Given the description of an element on the screen output the (x, y) to click on. 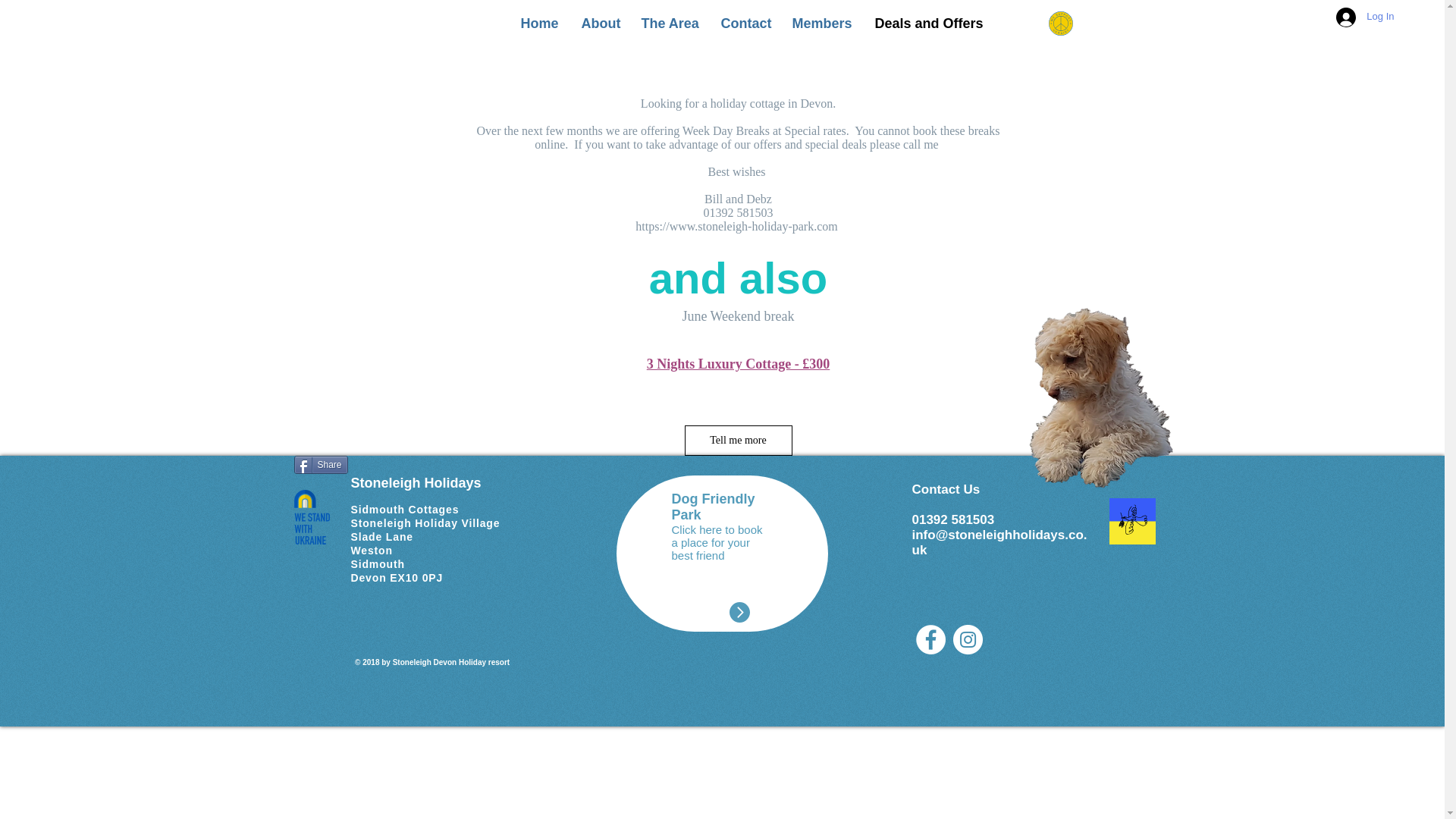
Deals and Offers (926, 23)
Share (320, 464)
The Area (668, 23)
Tell me more (738, 440)
Contact (742, 23)
Members (819, 23)
About (598, 23)
Home (538, 23)
Log In (1364, 17)
Share (320, 464)
